Given the description of an element on the screen output the (x, y) to click on. 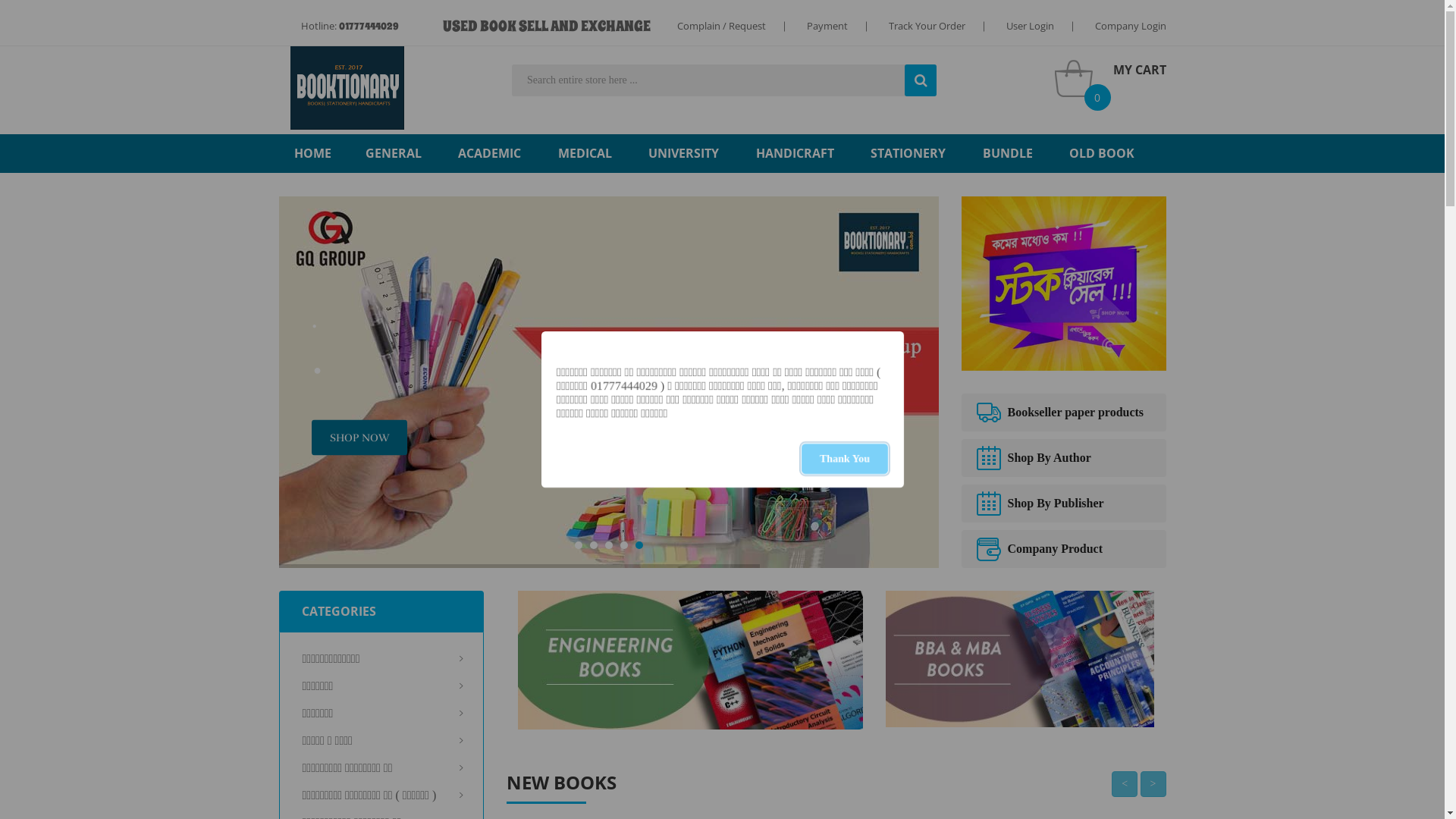
MEDICAL Element type: text (584, 153)
Shop By Author Element type: text (1063, 457)
OLD BOOK Element type: text (1101, 153)
UNIVERSITY Element type: text (683, 153)
Hotline: 01777444029 Element type: text (349, 26)
3 Element type: text (608, 545)
STATIONERY Element type: text (907, 153)
Bookseller paper products Element type: text (1063, 412)
Track Your Order Element type: text (926, 25)
Payment Element type: text (826, 25)
0
MY CART Element type: text (1109, 78)
Complain / Request Element type: text (720, 25)
ACADEMIC Element type: text (489, 153)
4 Element type: text (623, 545)
Shop By Publisher Element type: text (1063, 503)
Company Product Element type: text (1063, 548)
HANDICRAFT Element type: text (794, 153)
> Element type: text (1153, 784)
1 Element type: text (578, 545)
HOME Element type: text (312, 153)
5 Element type: text (639, 545)
Thank You Element type: text (843, 458)
BUNDLE Element type: text (1007, 153)
2 Element type: text (593, 545)
0
MY CART Element type: text (1109, 77)
  Element type: hover (346, 87)
User Login Element type: text (1029, 25)
GENERAL Element type: text (393, 153)
Company Login Element type: text (1130, 25)
< Element type: text (1124, 784)
USED BOOK SELL AND EXCHANGE Element type: text (546, 25)
